Given the description of an element on the screen output the (x, y) to click on. 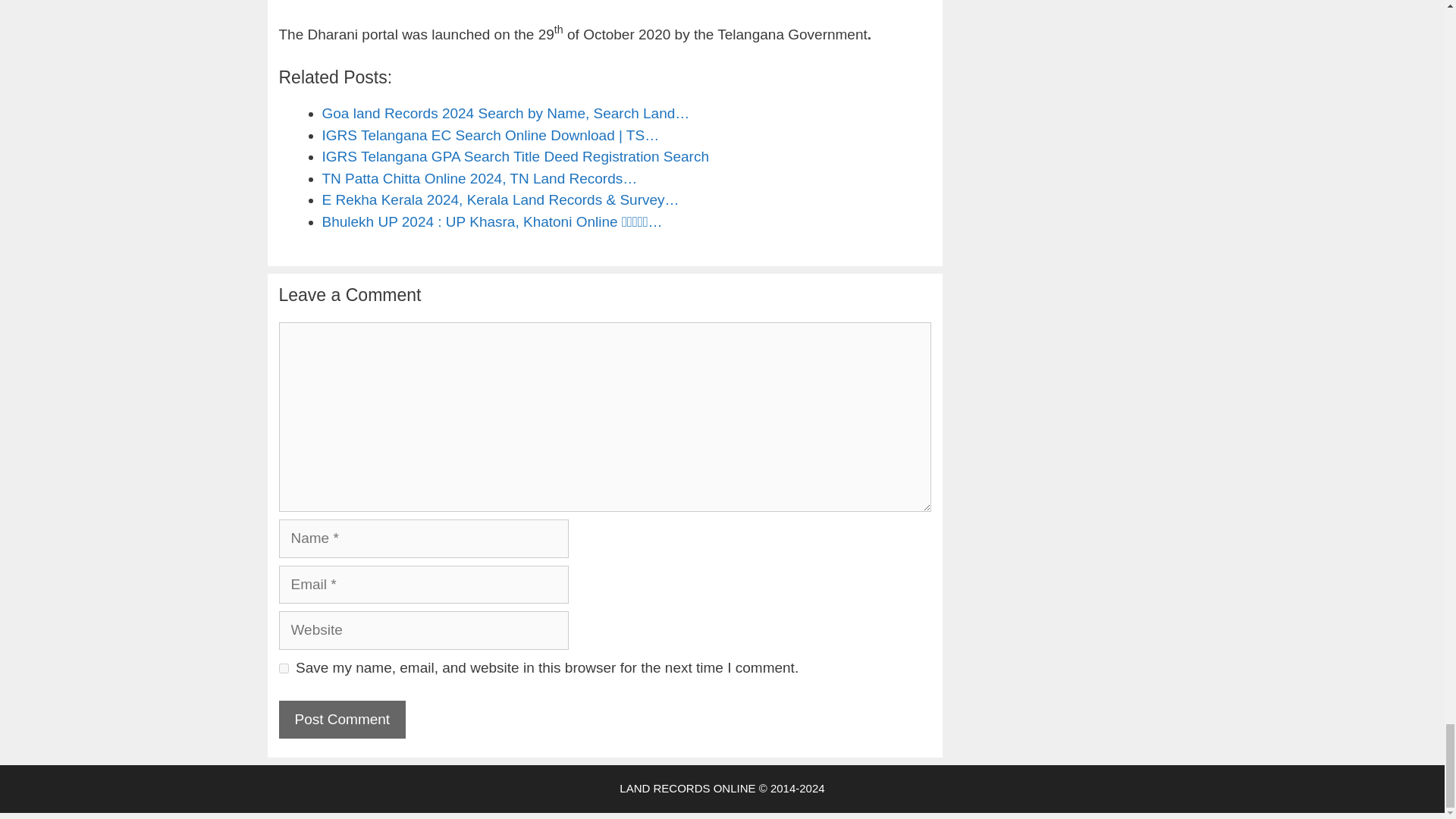
yes (283, 668)
IGRS Telangana GPA Search Title Deed Registration Search (514, 156)
Post Comment (342, 720)
Post Comment (342, 720)
